Given the description of an element on the screen output the (x, y) to click on. 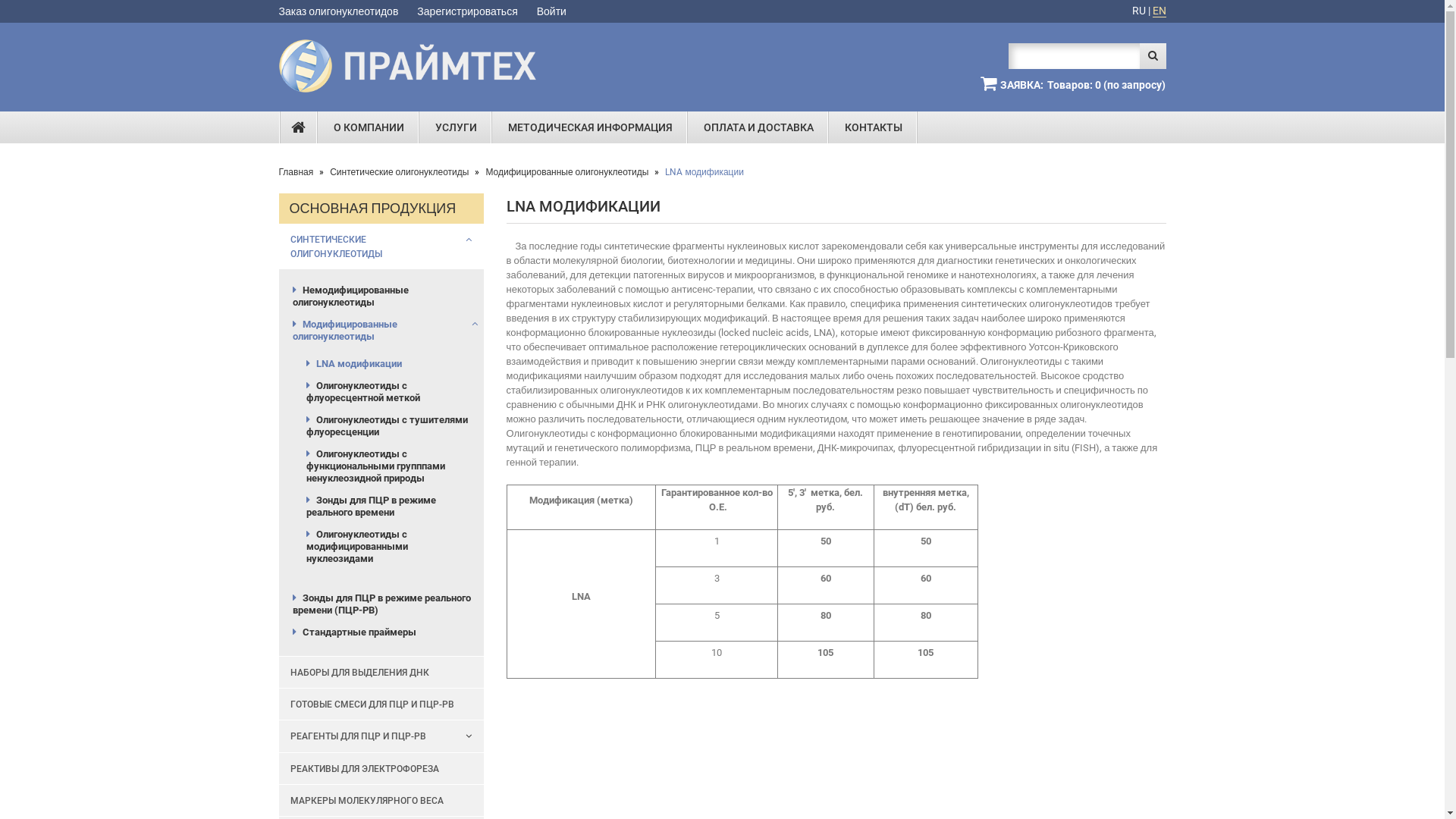
EN Element type: text (1159, 10)
